Given the description of an element on the screen output the (x, y) to click on. 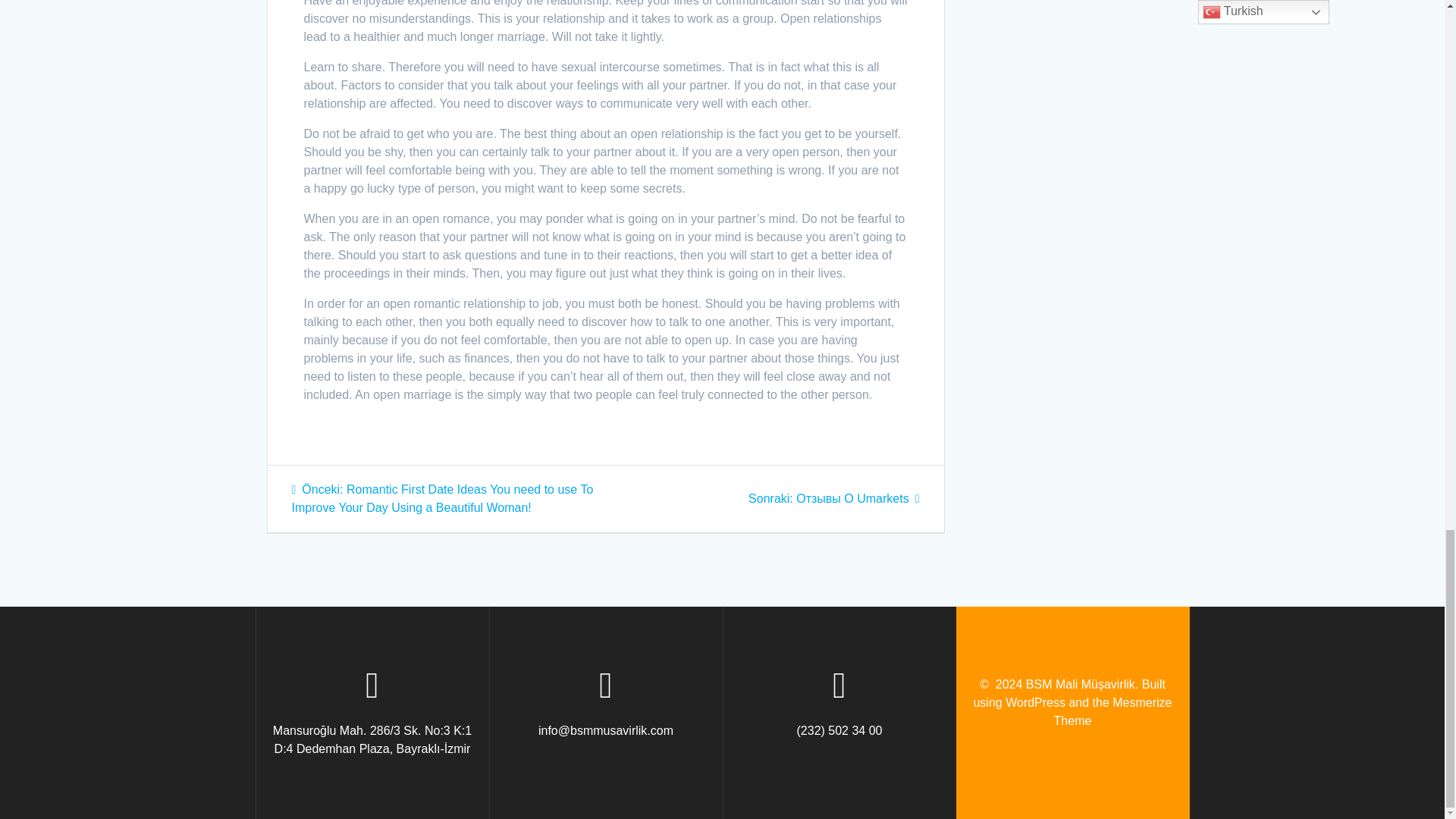
Mesmerize Theme (1113, 711)
